Given the description of an element on the screen output the (x, y) to click on. 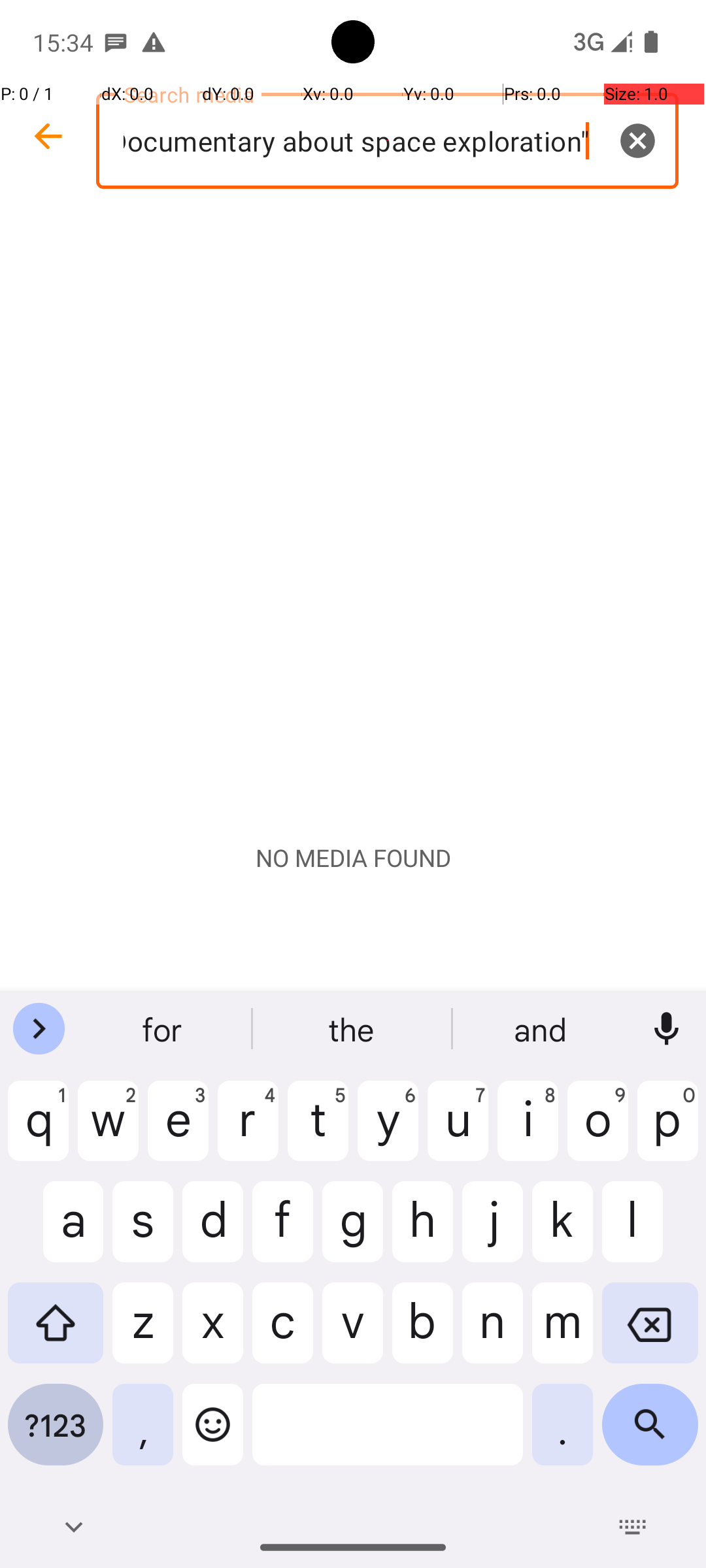
"Documentary about space exploration" Element type: android.widget.EditText (387, 140)
Clear text Element type: android.widget.ImageButton (637, 140)
NO MEDIA FOUND Element type: android.widget.TextView (353, 857)
for Element type: android.widget.FrameLayout (163, 1028)
the Element type: android.widget.FrameLayout (352, 1028)
and Element type: android.widget.FrameLayout (541, 1028)
